Given the description of an element on the screen output the (x, y) to click on. 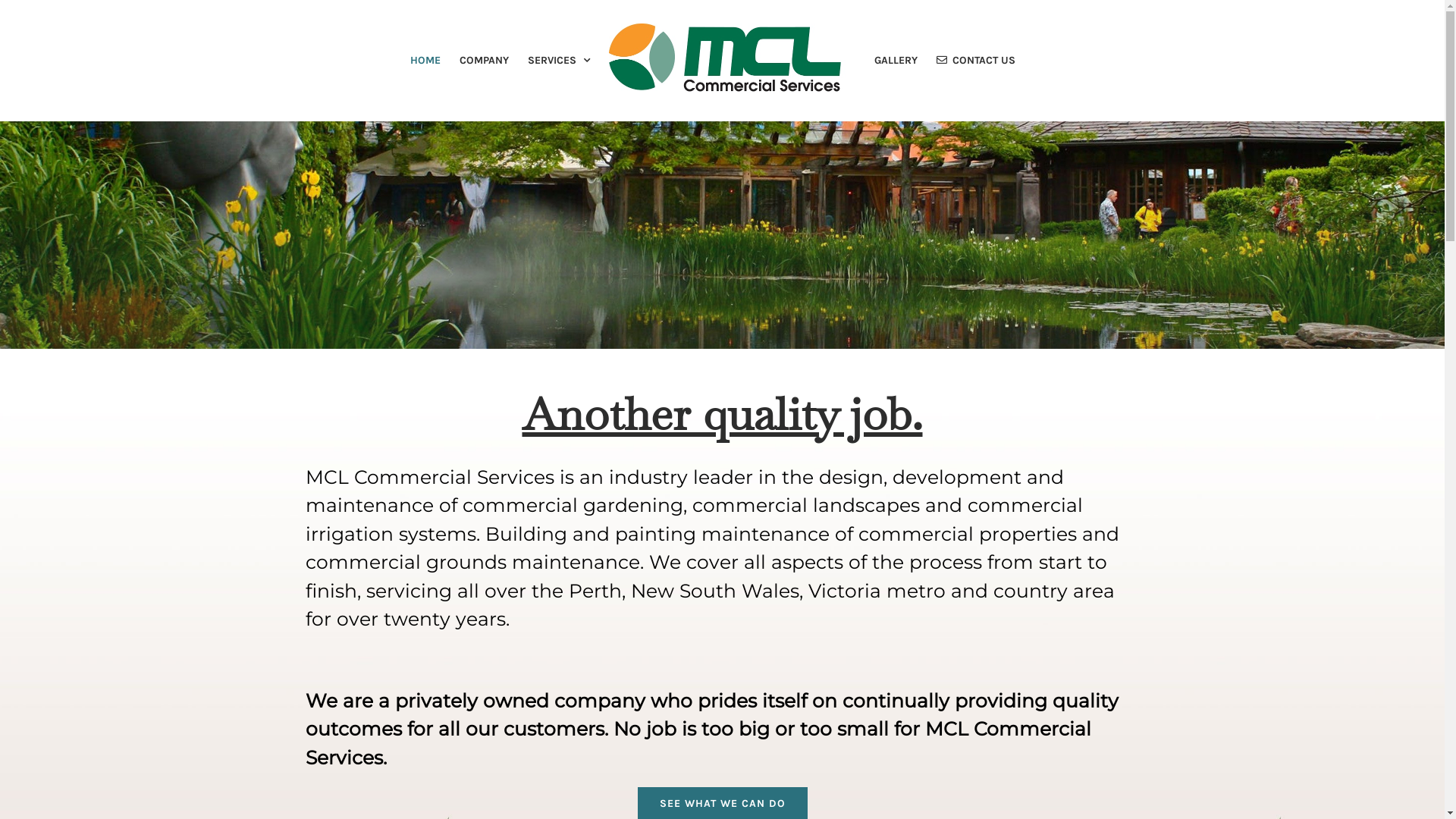
GALLERY Element type: text (895, 60)
HOME Element type: text (425, 60)
CONTACT US Element type: text (975, 60)
COMPANY Element type: text (483, 60)
SERVICES Element type: text (558, 60)
